Given the description of an element on the screen output the (x, y) to click on. 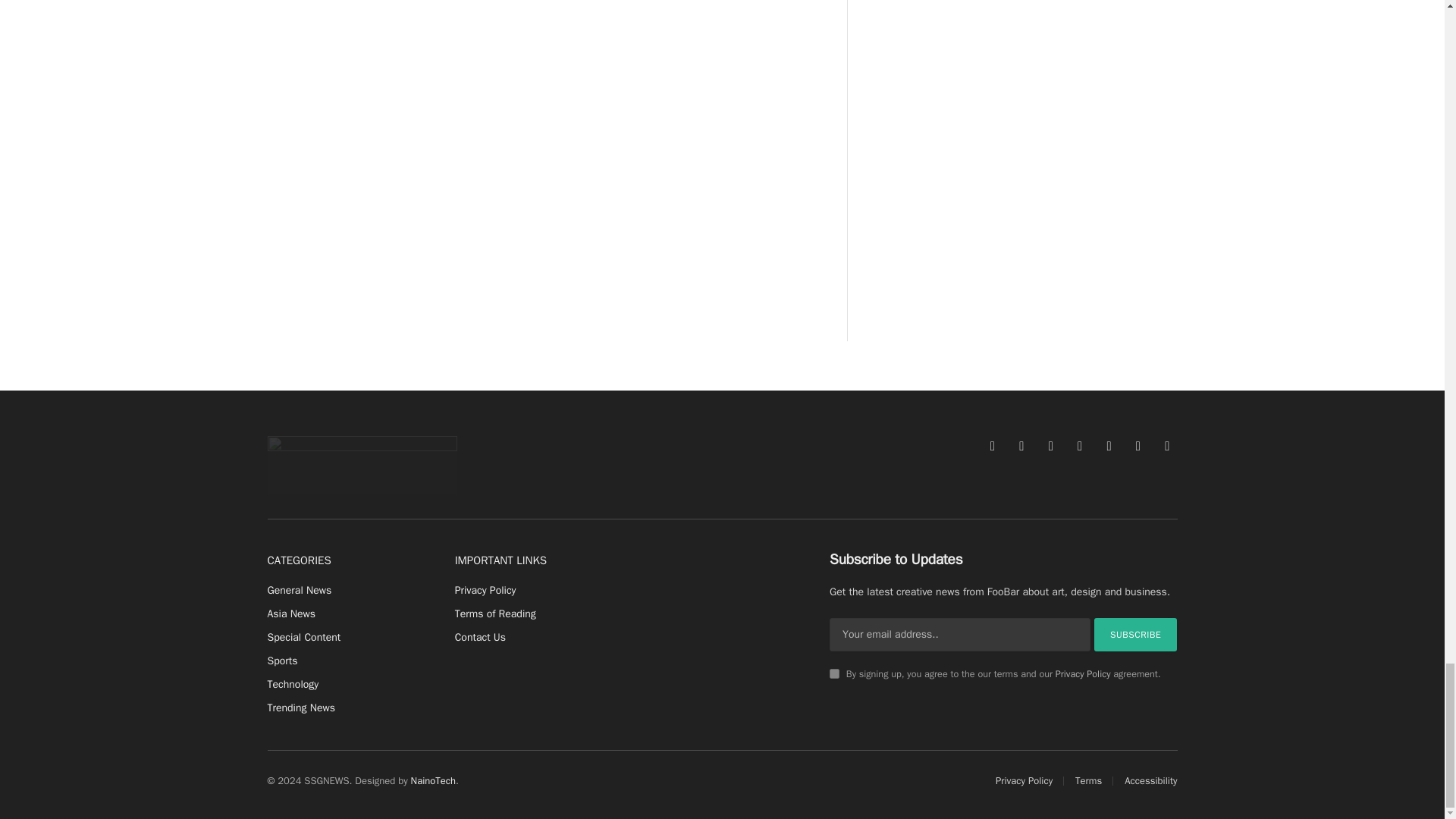
on (834, 673)
Subscribe (1135, 634)
